Given the description of an element on the screen output the (x, y) to click on. 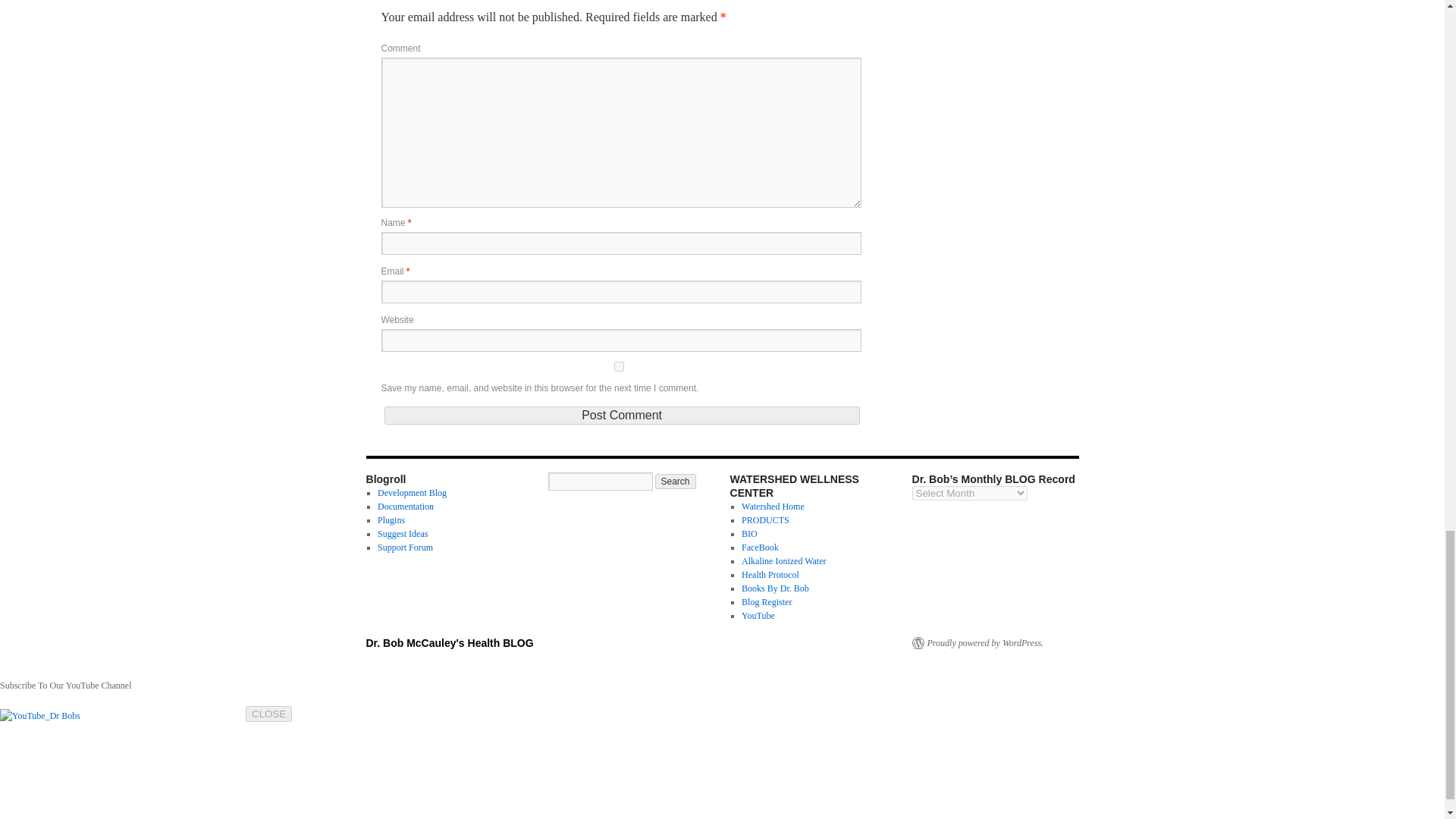
WWW.WATERSHED.NET (773, 506)
Post Comment (621, 415)
yes (618, 366)
Search (675, 481)
Post Comment (621, 415)
